Given the description of an element on the screen output the (x, y) to click on. 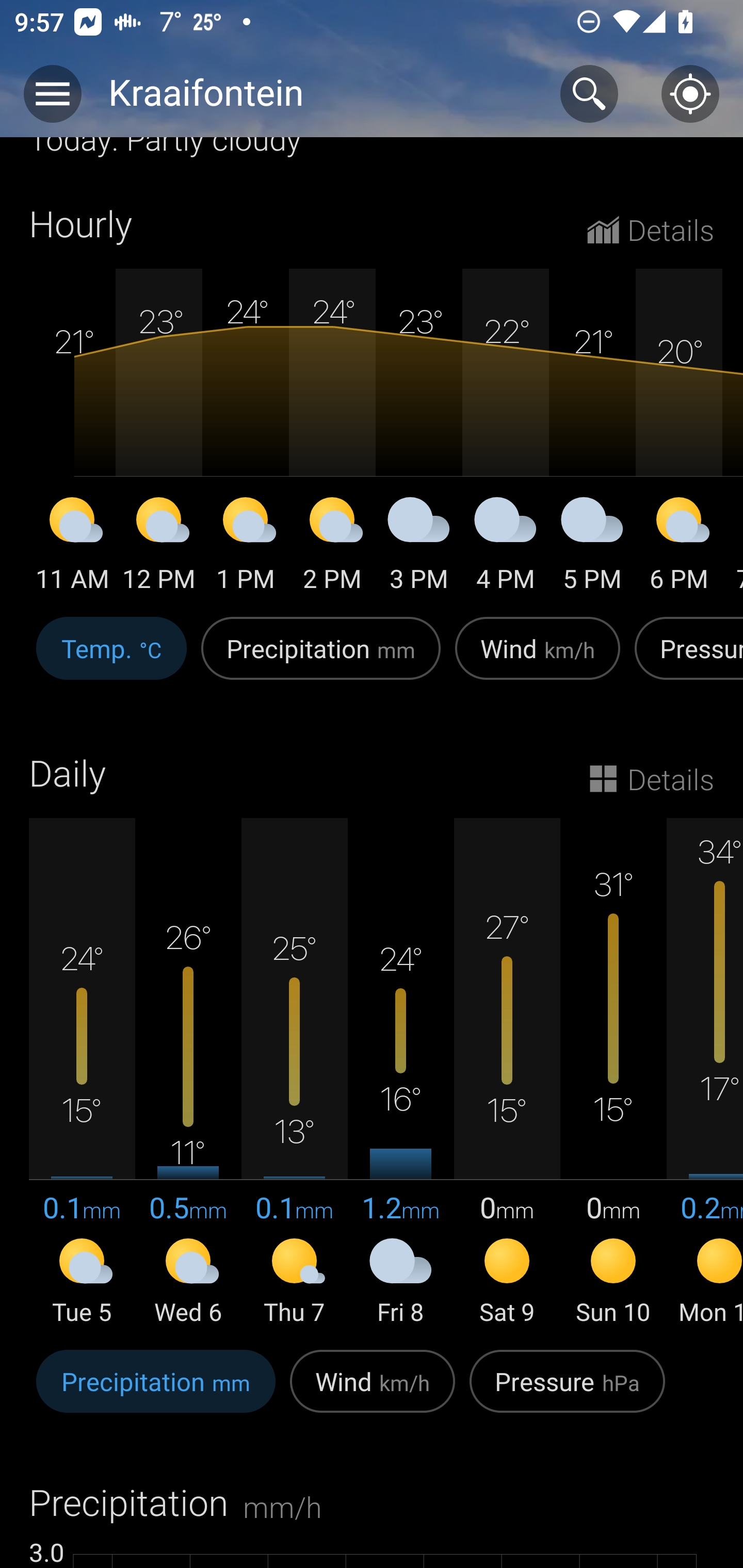
11 AM (71, 547)
12 PM (158, 547)
1 PM (245, 547)
2 PM (332, 547)
3 PM (418, 547)
4 PM (505, 547)
5 PM (592, 547)
6 PM (679, 547)
Temp. °C (110, 658)
Precipitation mm (320, 658)
Wind km/h (537, 658)
Pressure (685, 658)
24° 15° 0.1 mm Tue 5 (81, 1073)
26° 11° 0.5 mm Wed 6 (188, 1073)
25° 13° 0.1 mm Thu 7 (294, 1073)
24° 16° 1.2 mm Fri 8 (400, 1073)
27° 15° 0 mm Sat 9 (506, 1073)
31° 15° 0 mm Sun 10 (613, 1073)
34° 17° 0.2 mm Mon 11 (704, 1073)
Precipitation mm (155, 1391)
Wind km/h (372, 1391)
Pressure hPa (567, 1391)
